Given the description of an element on the screen output the (x, y) to click on. 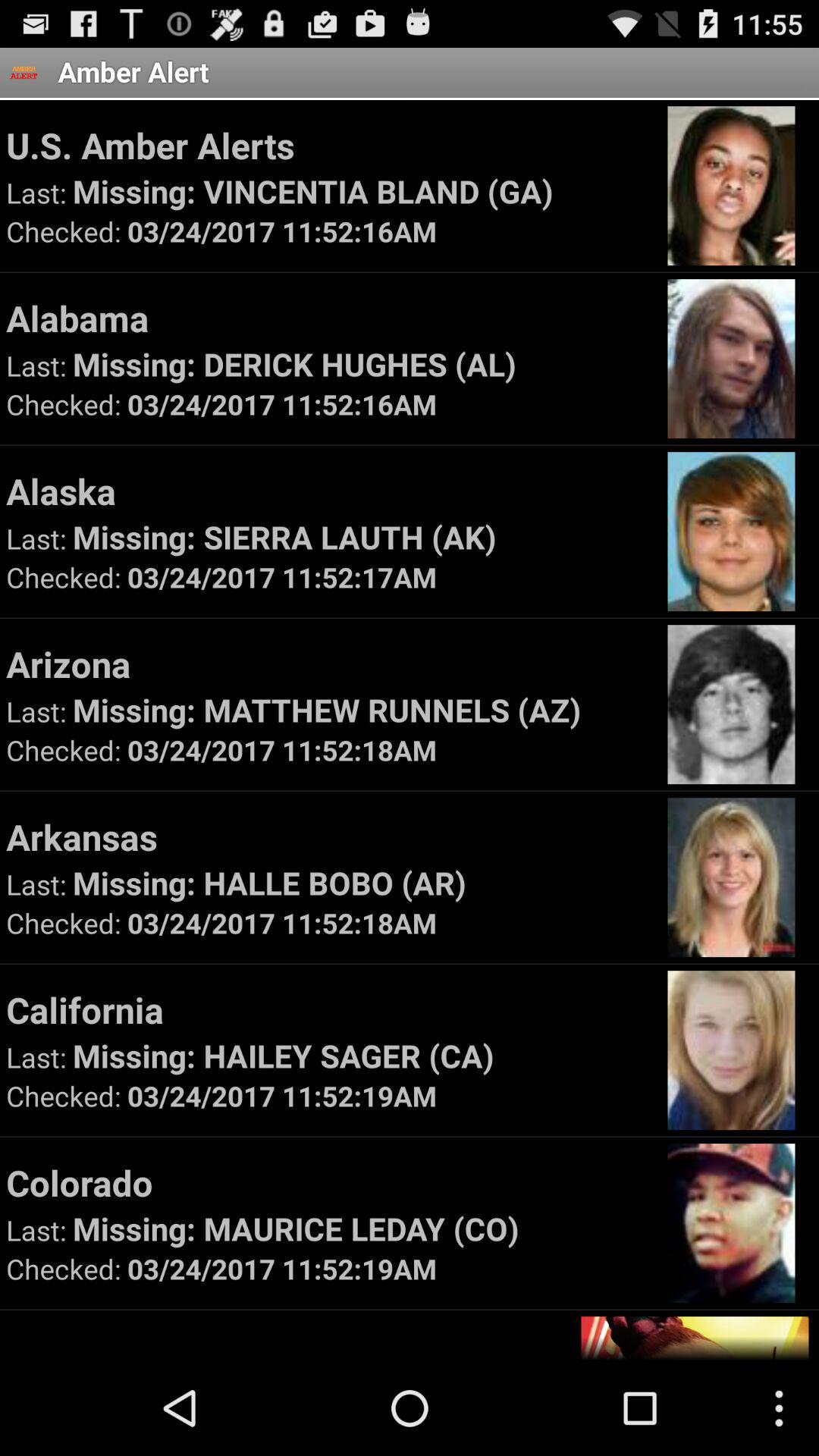
jump until u s amber app (329, 145)
